Given the description of an element on the screen output the (x, y) to click on. 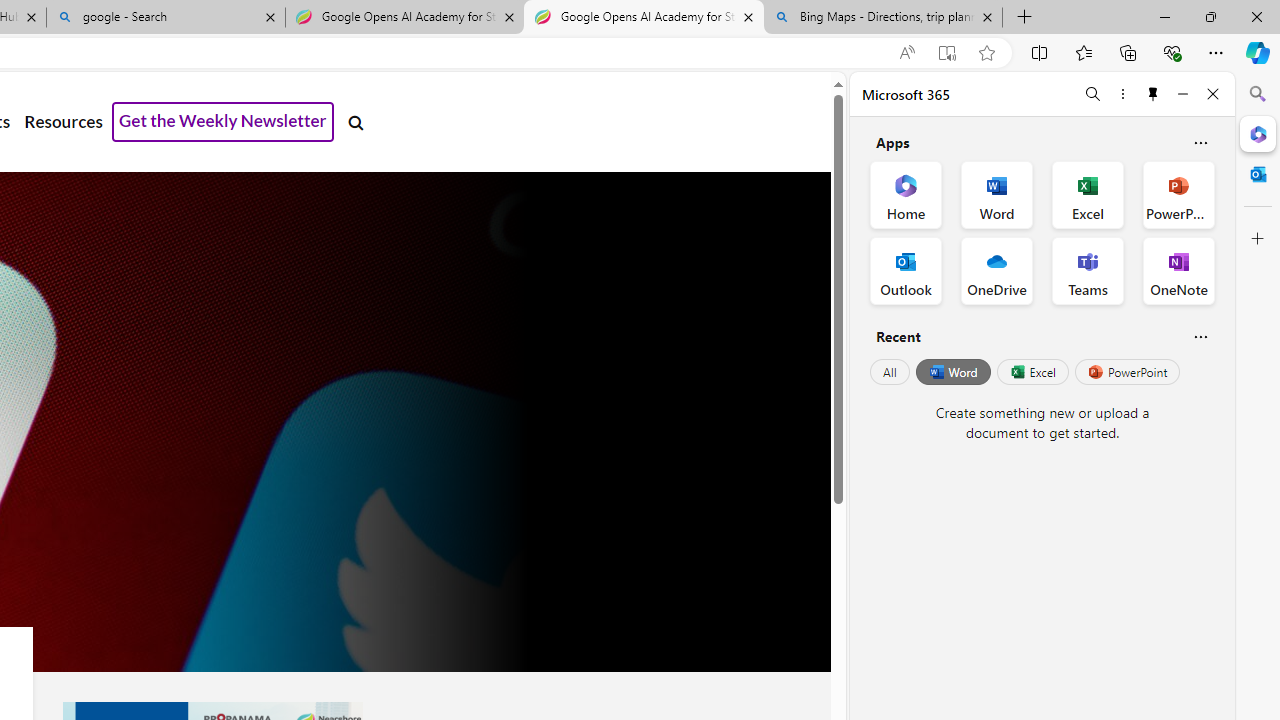
PowerPoint (1127, 372)
Favorites (1083, 52)
Enter Immersive Reader (F9) (946, 53)
Collections (1128, 52)
Customize (1258, 239)
Home Office App (906, 194)
Close (1213, 93)
google - Search (166, 17)
Add this page to favorites (Ctrl+D) (986, 53)
PowerPoint Office App (1178, 194)
Microsoft 365 (1258, 133)
Outlook (1258, 174)
Settings and more (Alt+F) (1215, 52)
Get the Weekly Newsletter (223, 121)
